Given the description of an element on the screen output the (x, y) to click on. 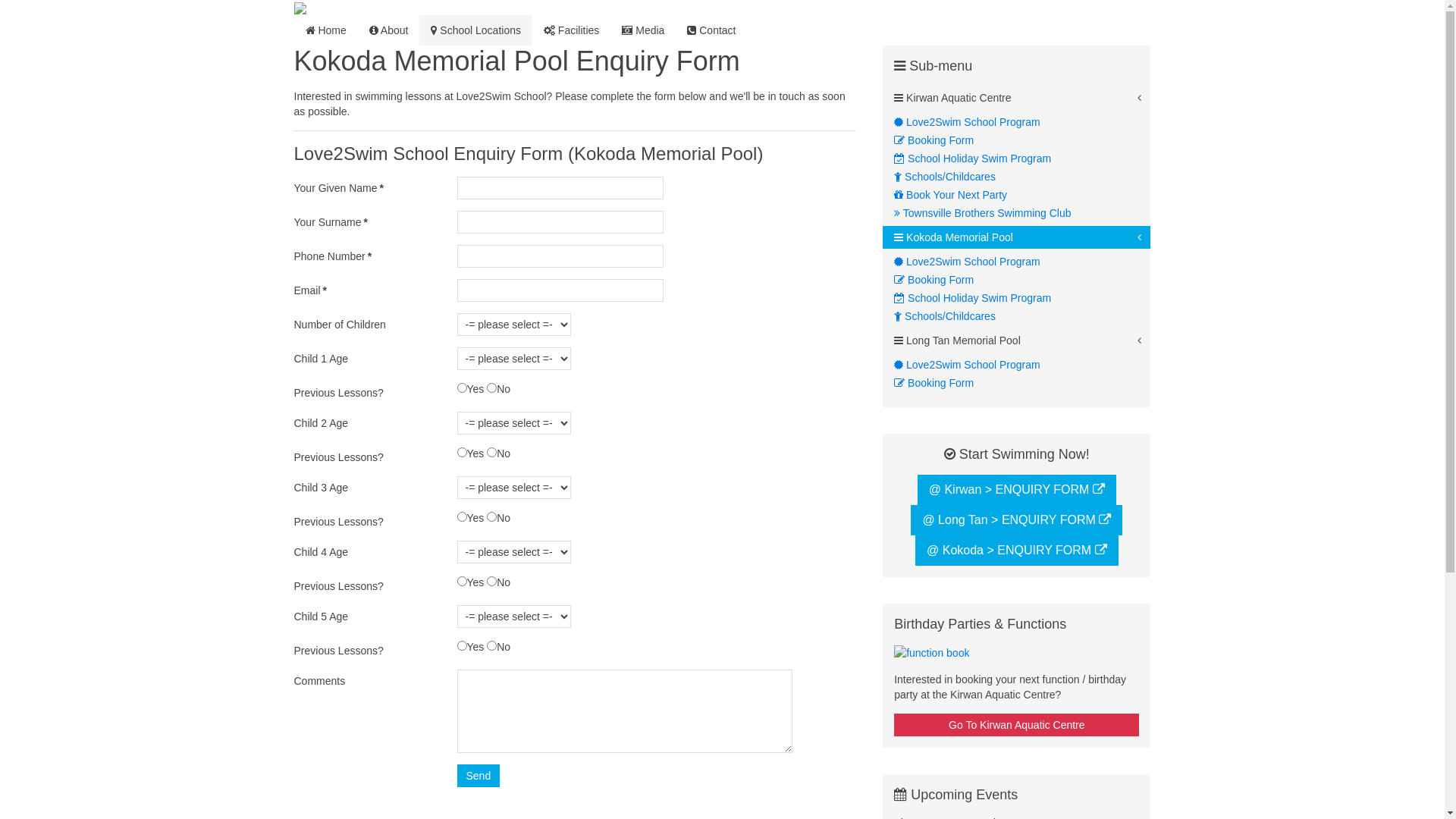
School Holiday Swim Program Element type: text (1022, 297)
Media Element type: text (642, 30)
Schools/Childcares Element type: text (1022, 316)
Booking Form Element type: text (1022, 279)
Facilities Element type: text (571, 30)
Love2Swim School Program Element type: text (1022, 261)
@ Kokoda > ENQUIRY FORM Element type: text (1016, 550)
Booking Form Element type: text (1022, 140)
Love2Swim School Program Element type: text (1022, 364)
Home Element type: text (325, 30)
Kirwan Aquatic Centre Element type: text (1016, 97)
Love2Swim School Program Element type: text (1022, 121)
Kokoda Memorial Pool Element type: text (1016, 236)
Long Tan Memorial Pool Element type: text (1016, 340)
Send Element type: text (477, 775)
Townsville Brothers Swimming Club Element type: text (1022, 212)
@ Kirwan > ENQUIRY FORM Element type: text (1016, 489)
About Element type: text (388, 30)
Contact Element type: text (710, 30)
Go To Kirwan Aquatic Centre Element type: text (1016, 724)
School Locations Element type: text (475, 30)
@ Long Tan > ENQUIRY FORM Element type: text (1016, 520)
Schools/Childcares Element type: text (1022, 176)
Book Your Next Party Element type: text (1022, 194)
School Holiday Swim Program Element type: text (1022, 158)
Booking Form Element type: text (1022, 382)
